Given the description of an element on the screen output the (x, y) to click on. 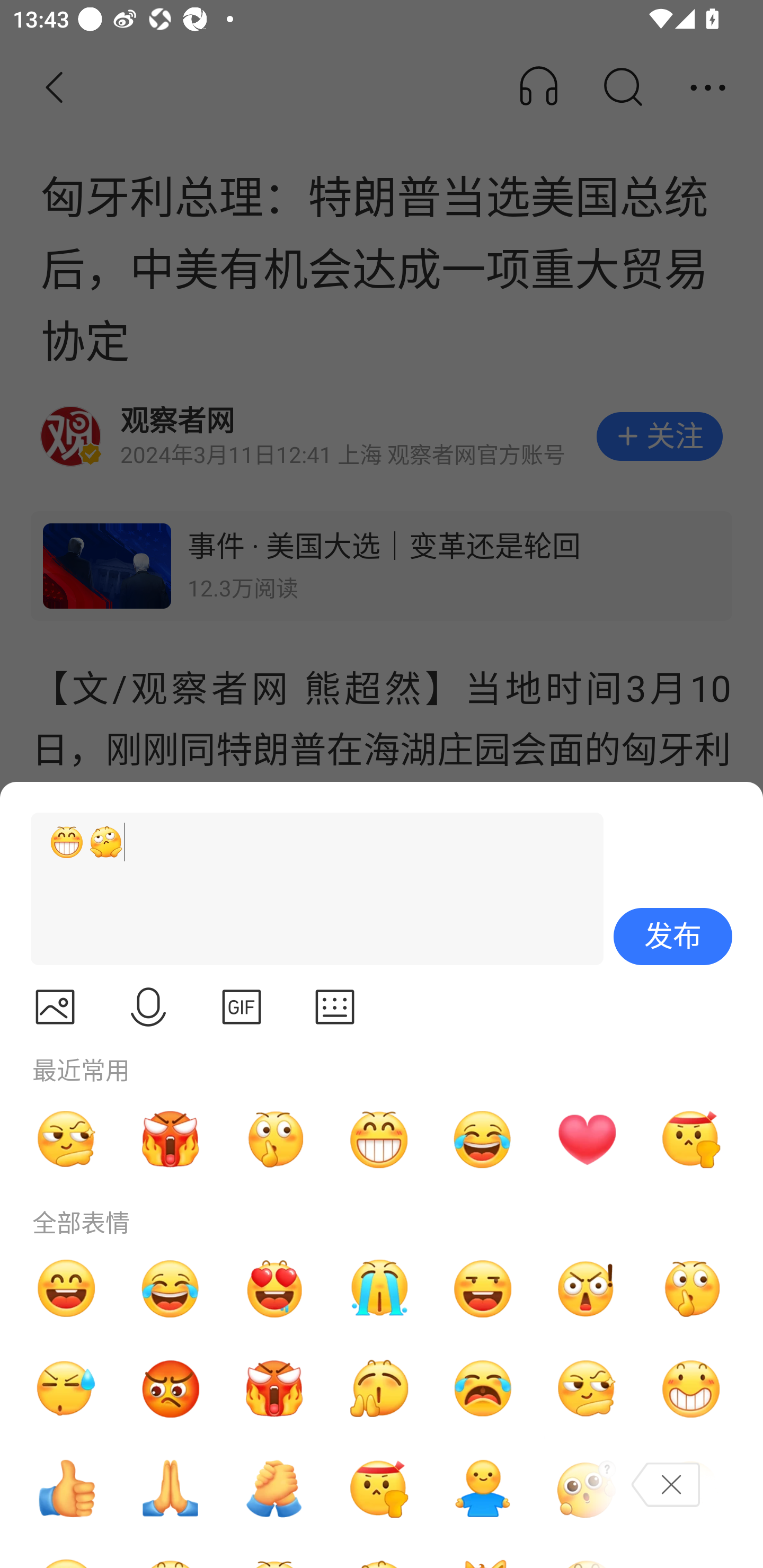
[呲牙][无聊] (308, 888)
发布 (672, 936)
 (54, 1007)
 (148, 1007)
 (241, 1007)
 (334, 1007)
机智 (66, 1138)
愤怒 (170, 1138)
嘘 (274, 1138)
呲牙 (378, 1138)
哭笑 (482, 1138)
心 (586, 1138)
奋斗 (690, 1138)
哈哈 (66, 1288)
哭笑 (170, 1288)
喜欢 (274, 1288)
哭 (378, 1288)
嘿嘿 (482, 1288)
吃惊 (586, 1288)
嘘 (690, 1288)
汗 (66, 1389)
生气 (170, 1389)
愤怒 (274, 1389)
喝彩 (378, 1389)
抓狂 (482, 1389)
机智 (586, 1389)
坏笑 (690, 1389)
点赞 (66, 1488)
缅怀 (170, 1488)
加油 (274, 1488)
奋斗 (378, 1488)
抱抱 (482, 1488)
疑问 (586, 1488)
捂脸 (690, 1488)
